Given the description of an element on the screen output the (x, y) to click on. 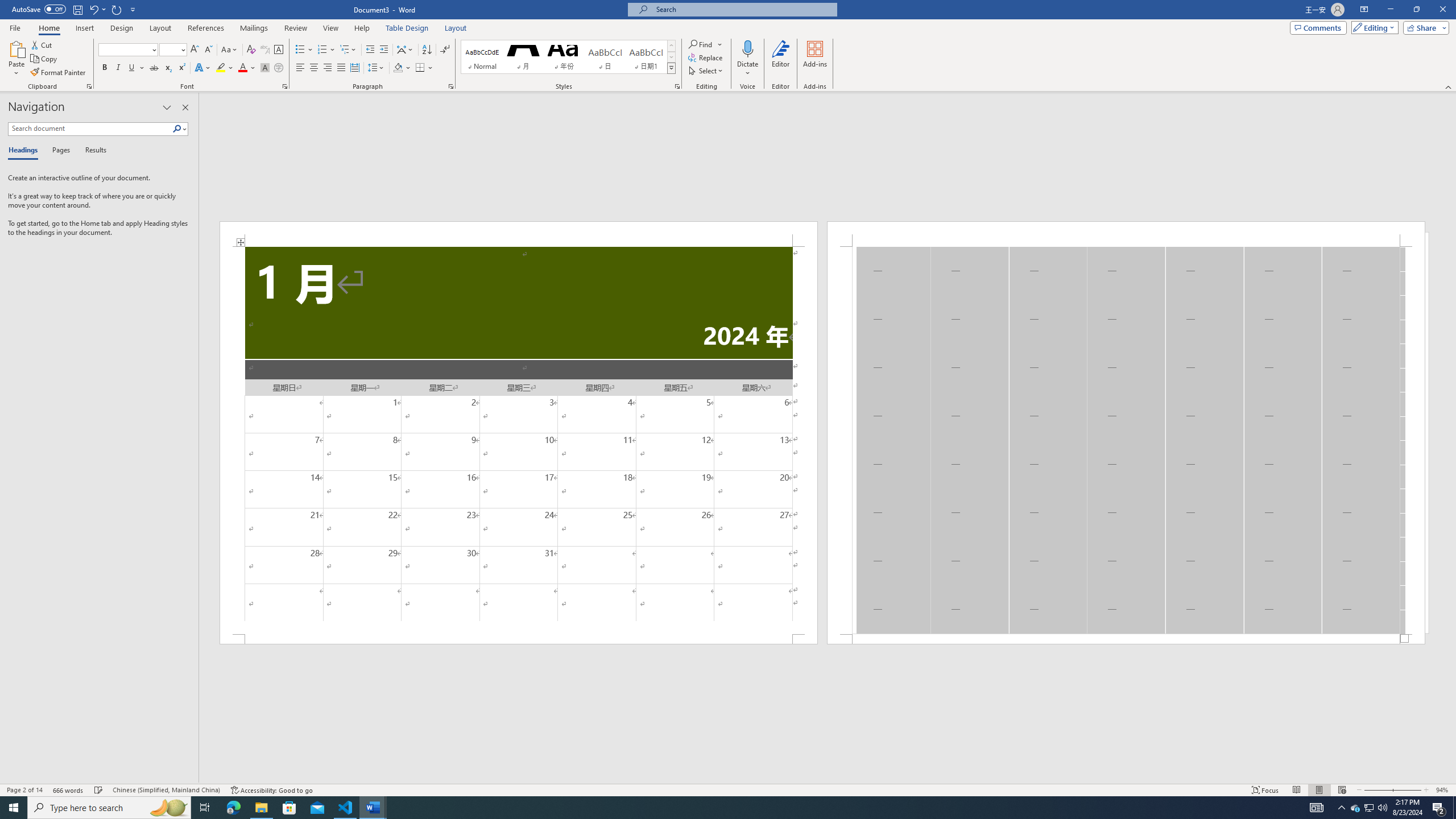
Print Layout (1318, 790)
Find (700, 44)
Increase Indent (383, 49)
Paragraph... (450, 85)
Editor (780, 58)
File Tab (15, 27)
Replace... (705, 56)
Row Down (670, 56)
Page Number Page 2 of 14 (24, 790)
Office Clipboard... (88, 85)
Pages (59, 150)
Headings (25, 150)
